Given the description of an element on the screen output the (x, y) to click on. 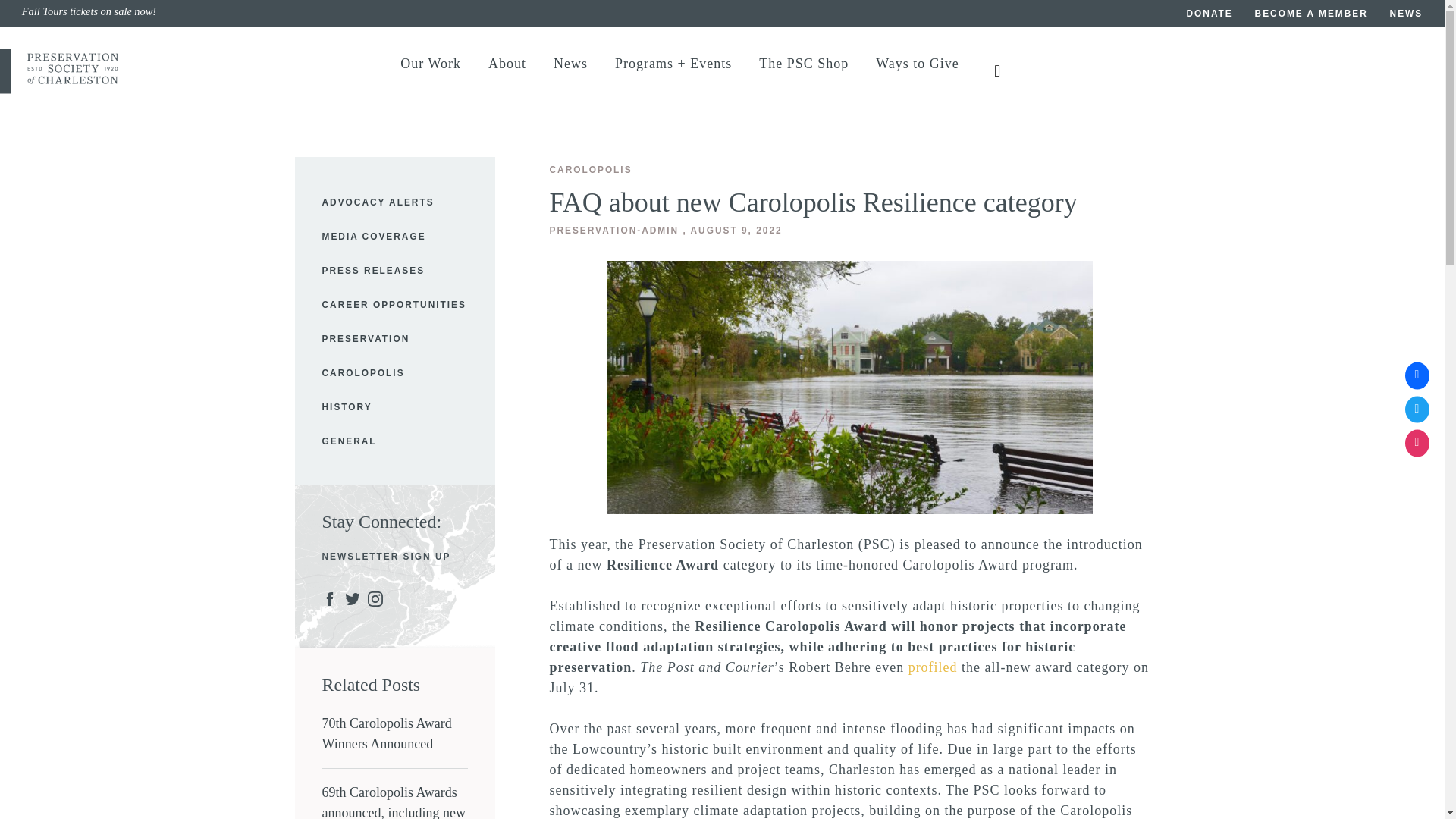
Fall Tours tickets on sale now! (371, 13)
About (506, 71)
DONATE (1209, 15)
News (570, 71)
Follow us on Twitter (1417, 409)
Our Work (430, 71)
Follow us on Instagram (1417, 443)
NEWS (1406, 15)
BECOME A MEMBER (1311, 15)
Connect with us on Facebook (1417, 375)
